Given the description of an element on the screen output the (x, y) to click on. 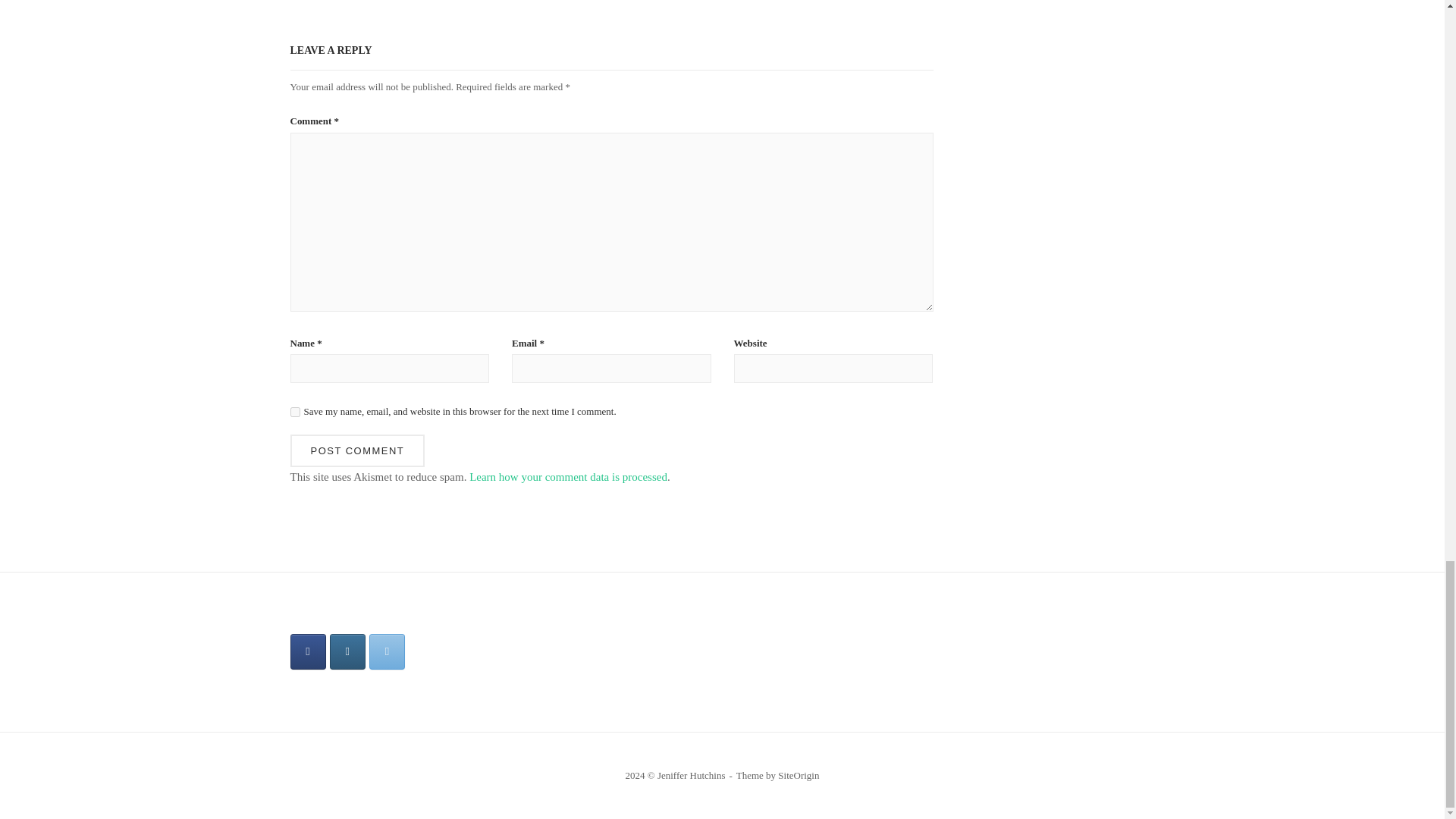
SiteOrigin (797, 775)
Post Comment (357, 450)
yes (294, 411)
Jeniffer Hutchins on Facebook (306, 651)
Jeniffer Hutchins on Envelope (386, 651)
Learn how your comment data is processed (567, 476)
Jeniffer Hutchins on Instagram (347, 651)
Post Comment (357, 450)
